Given the description of an element on the screen output the (x, y) to click on. 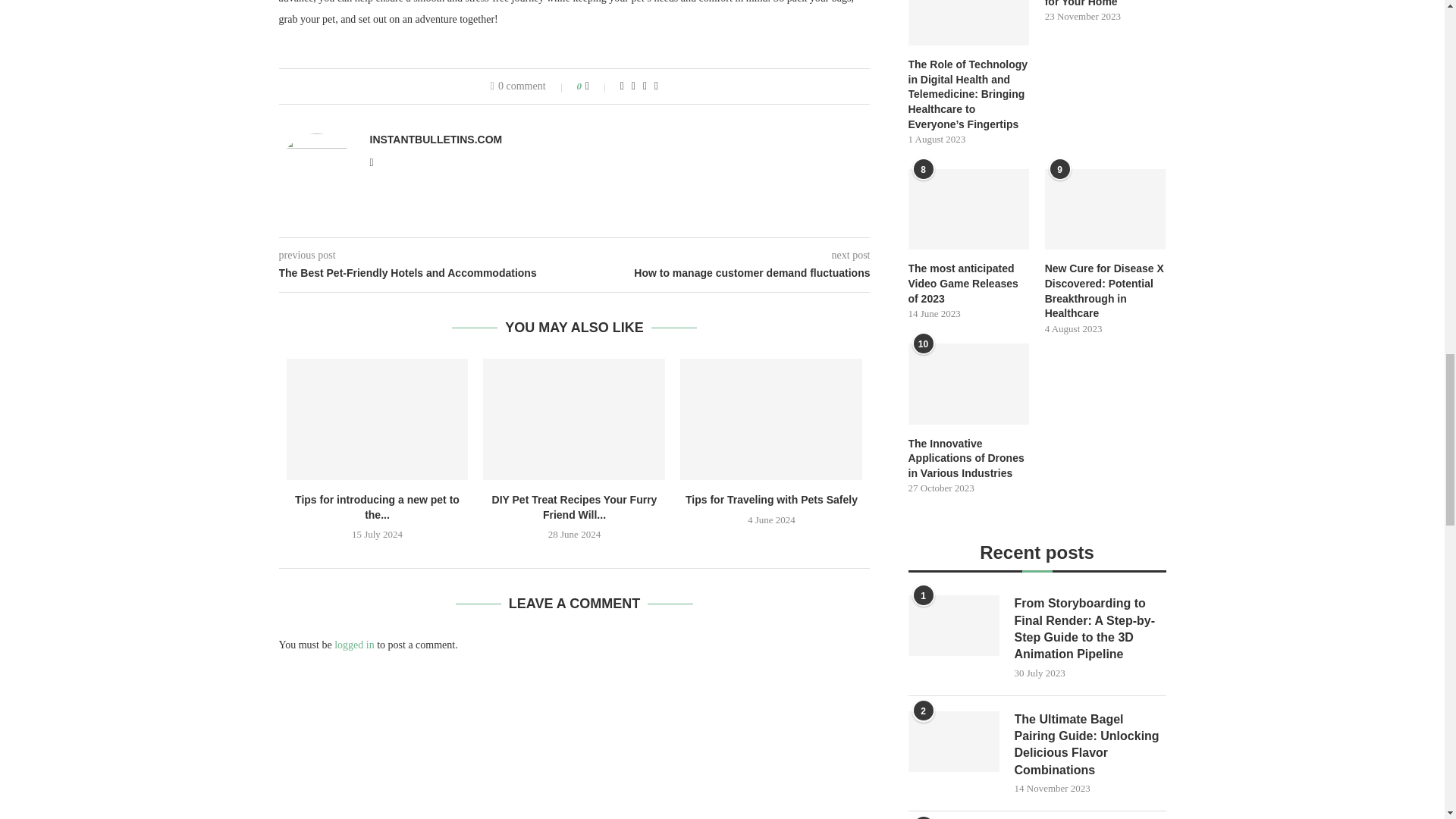
Tips for Traveling with Pets Safely (770, 418)
How to manage customer demand fluctuations (722, 273)
The Best Pet-Friendly Hotels and Accommodations (427, 273)
Like (597, 86)
DIY Pet Treat Recipes Your Furry Friend Will Love (574, 418)
Tips for introducing a new pet to the family (377, 418)
Author instantbulletins.com (435, 139)
INSTANTBULLETINS.COM (435, 139)
